Given the description of an element on the screen output the (x, y) to click on. 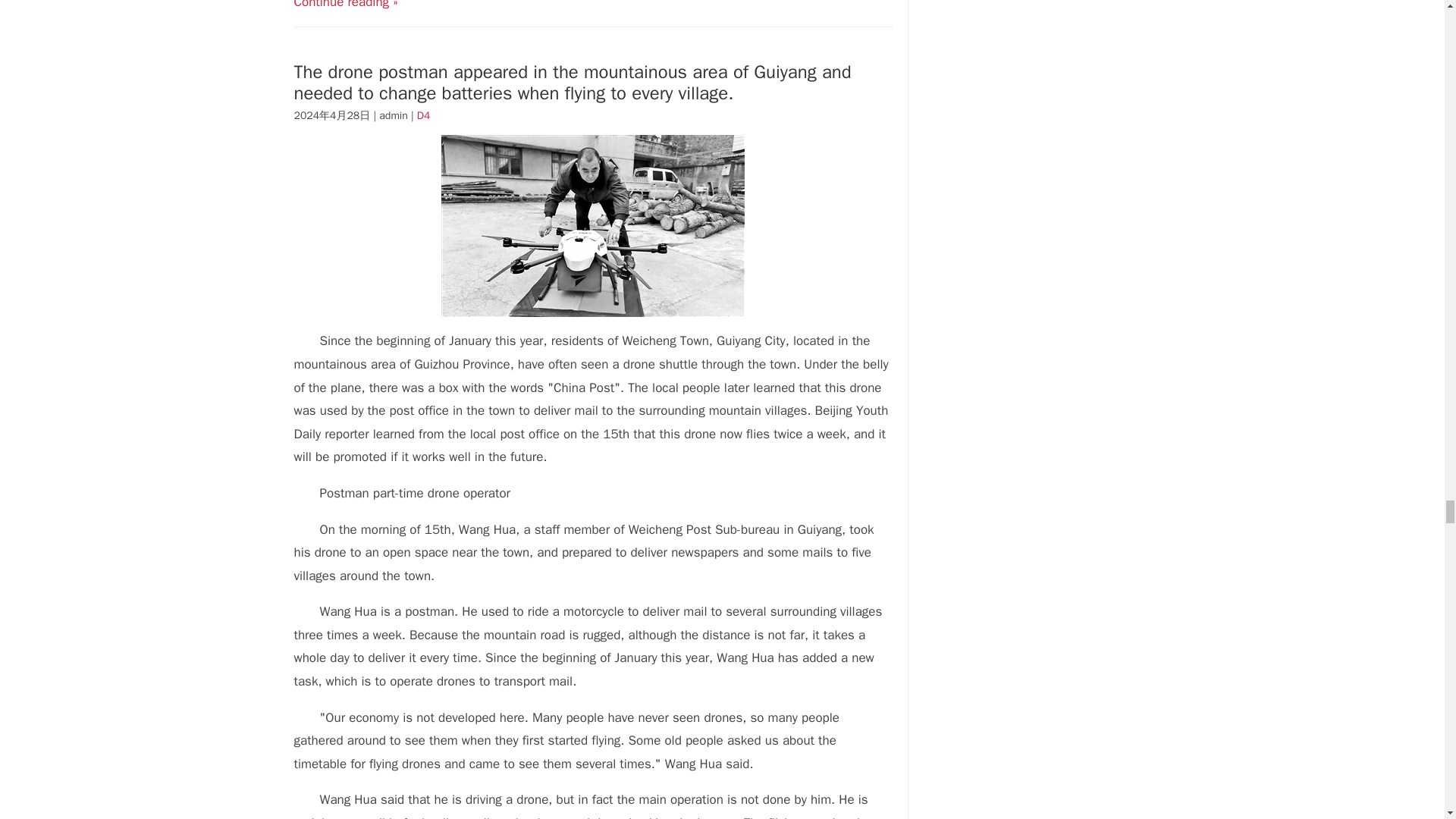
D4 (423, 115)
